Given the description of an element on the screen output the (x, y) to click on. 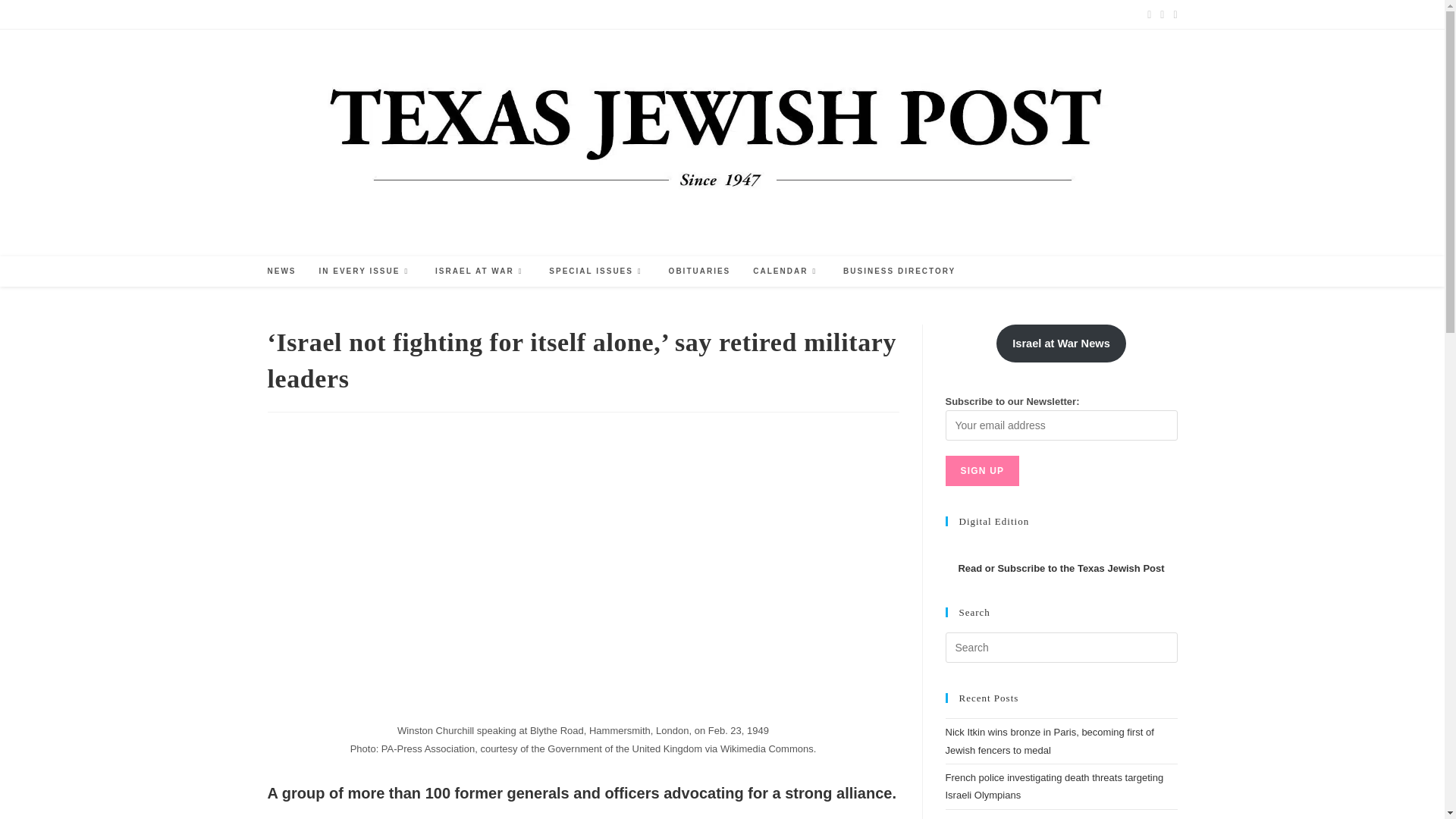
Submit Your News (405, 13)
Sign up (981, 470)
NEWS (281, 271)
Subscribe (336, 13)
SPECIAL ISSUES (596, 271)
About Us (473, 13)
Read or Subscribe to the Texas Jewish Post e-Edition (1060, 568)
BUSINESS DIRECTORY (898, 271)
Newsletter (586, 13)
CALENDAR (786, 271)
ISRAEL AT WAR (480, 271)
Synagogues (527, 13)
OBITUARIES (700, 271)
Advertise (285, 13)
IN EVERY ISSUE (366, 271)
